Given the description of an element on the screen output the (x, y) to click on. 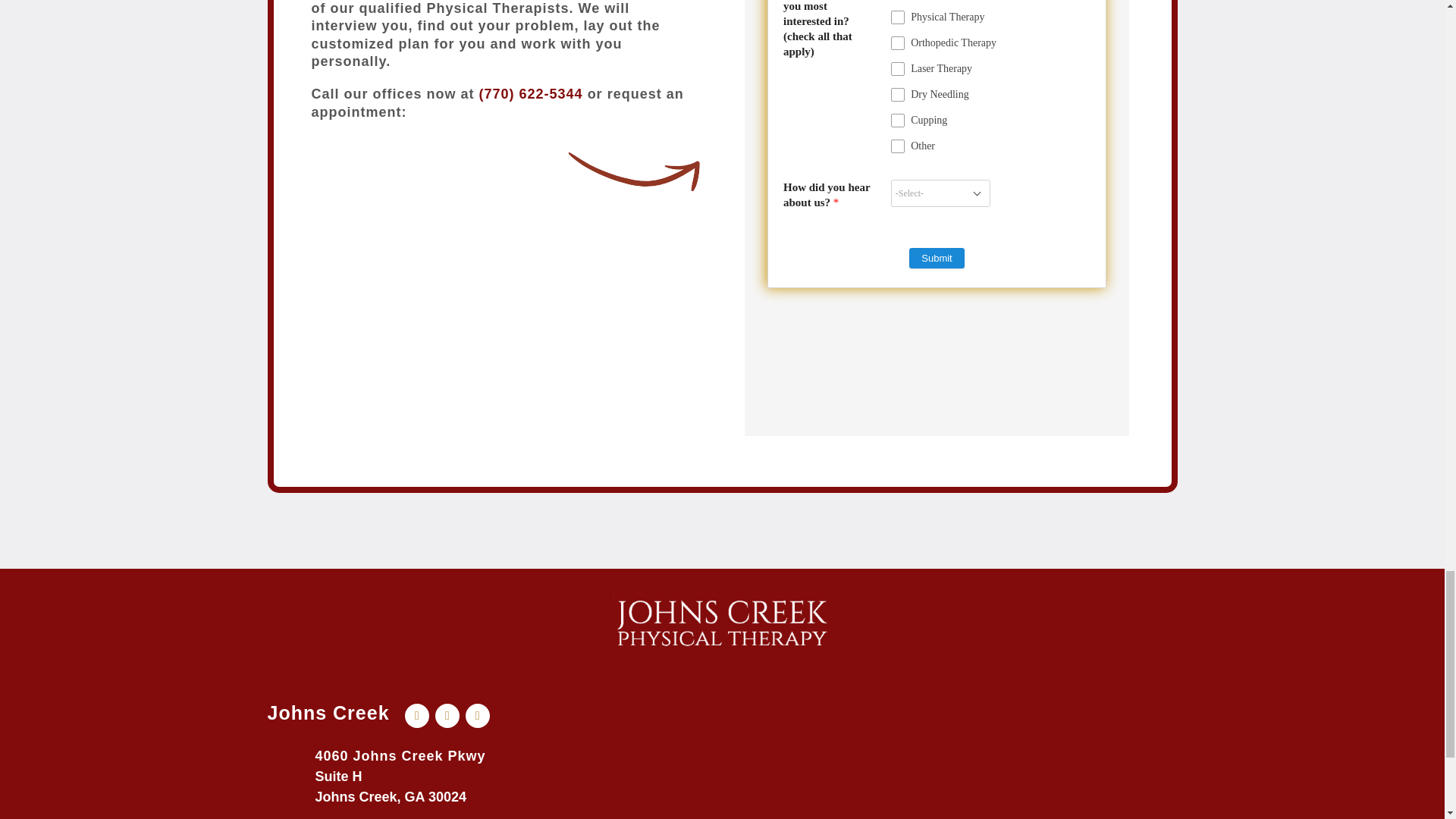
request-arrow (633, 171)
Follow on Youtube (447, 715)
Johns-Creek-Physical-Therapy-White-logo-01 (722, 623)
Follow on Facebook (416, 715)
Follow on Instagram (477, 715)
